Given the description of an element on the screen output the (x, y) to click on. 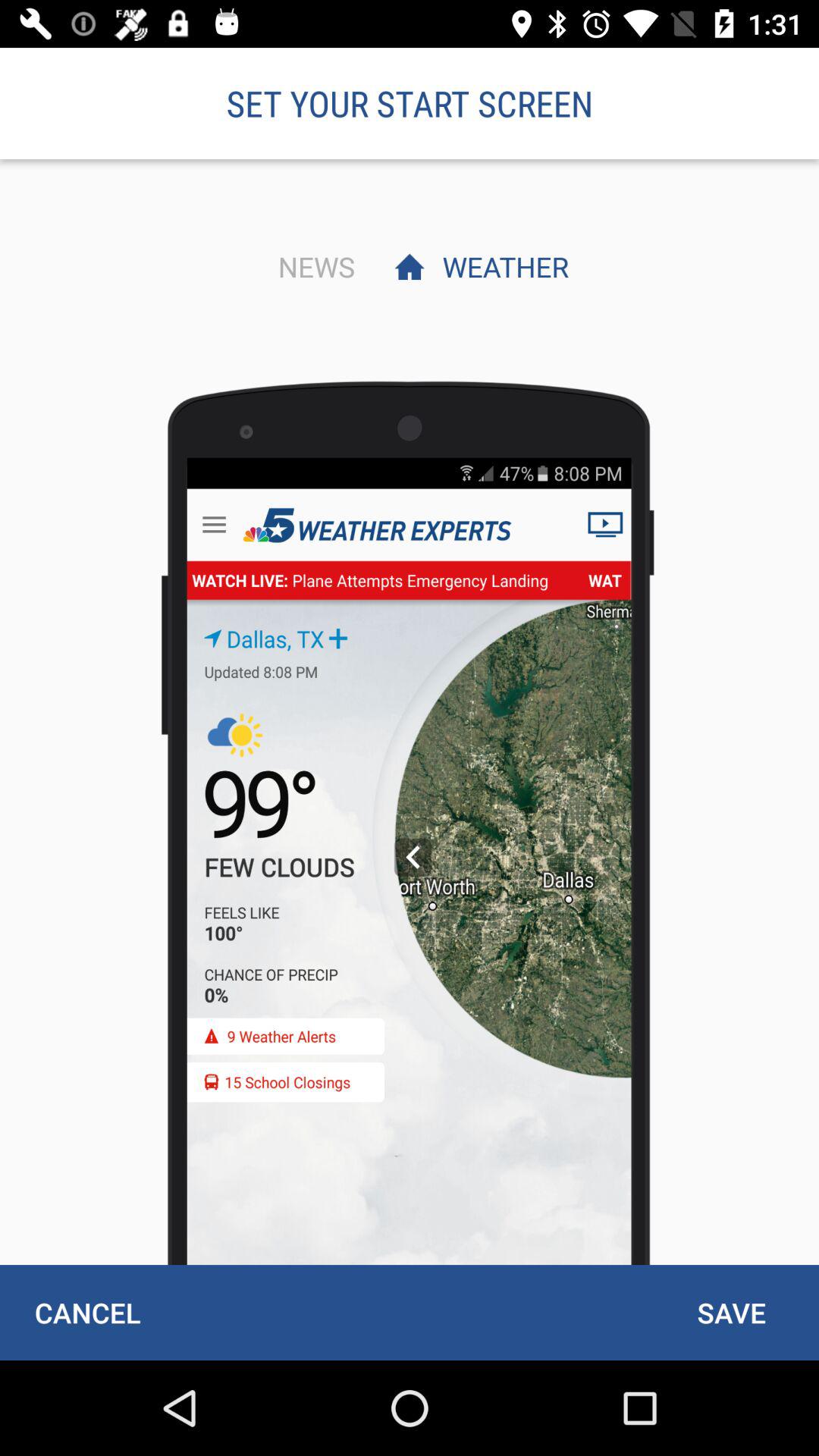
turn on set your start item (409, 103)
